Given the description of an element on the screen output the (x, y) to click on. 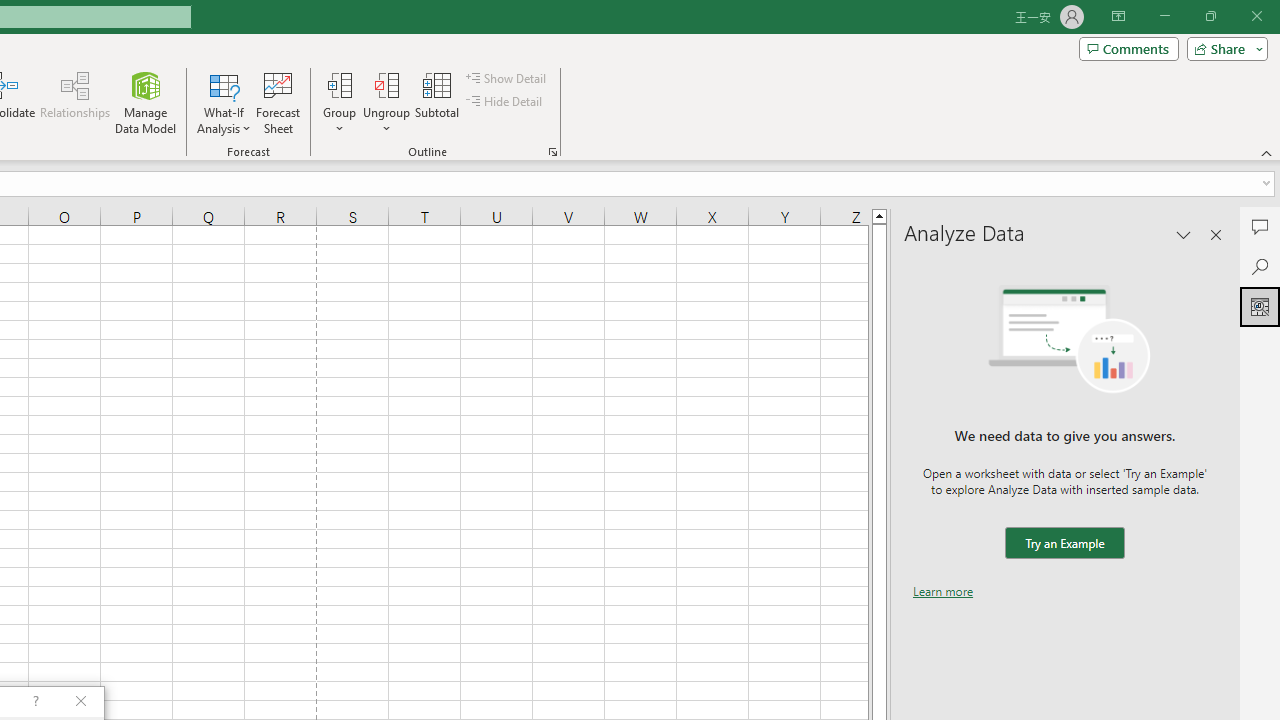
Hide Detail (505, 101)
We need data to give you answers. Try an Example (1064, 543)
Analyze Data (1260, 306)
Subtotal (437, 102)
Manage Data Model (145, 102)
Relationships (75, 102)
Forecast Sheet (278, 102)
